Given the description of an element on the screen output the (x, y) to click on. 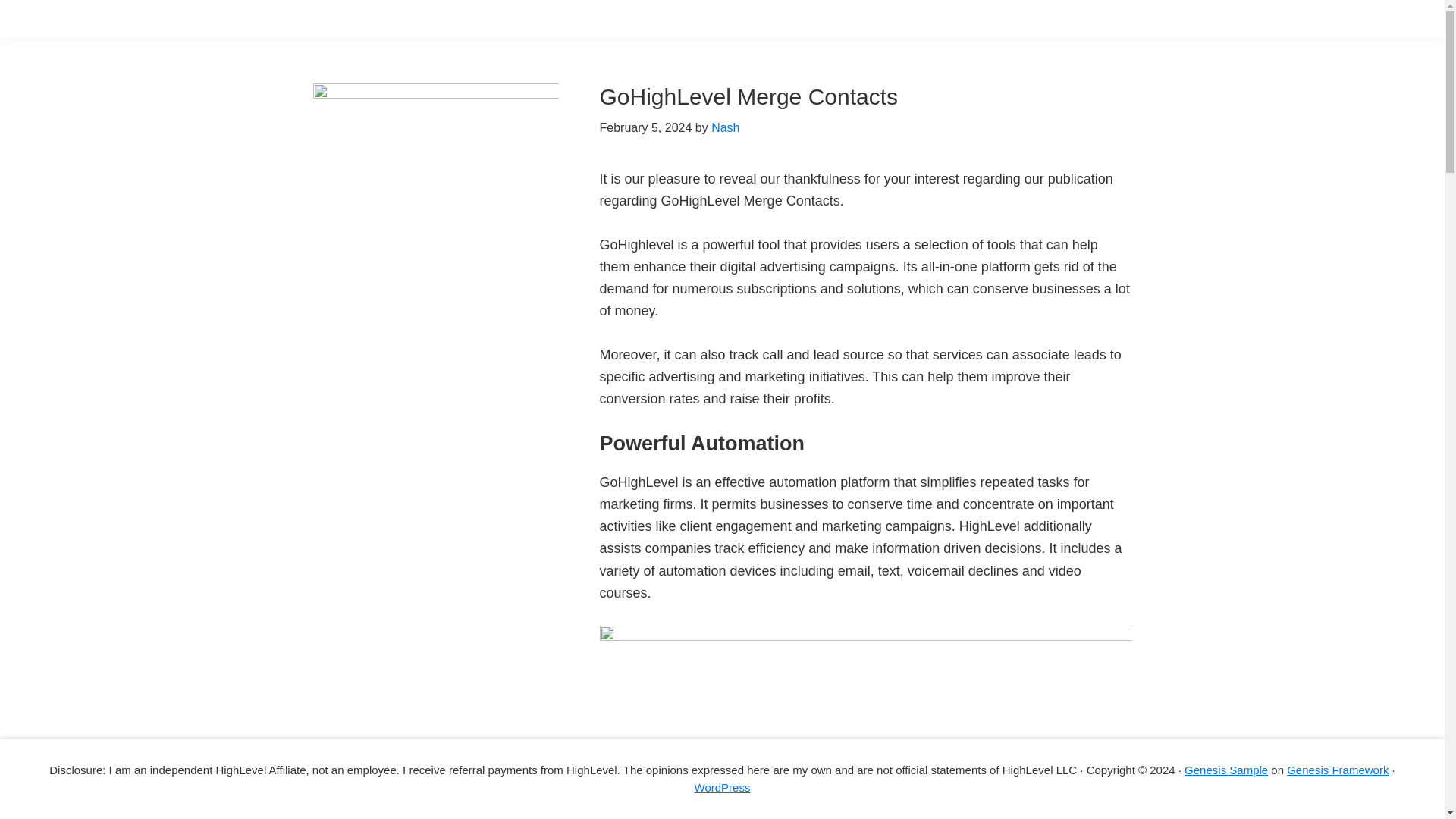
Genesis Sample (1226, 769)
WordPress (722, 787)
Nash (725, 127)
Genesis Framework (1338, 769)
